Given the description of an element on the screen output the (x, y) to click on. 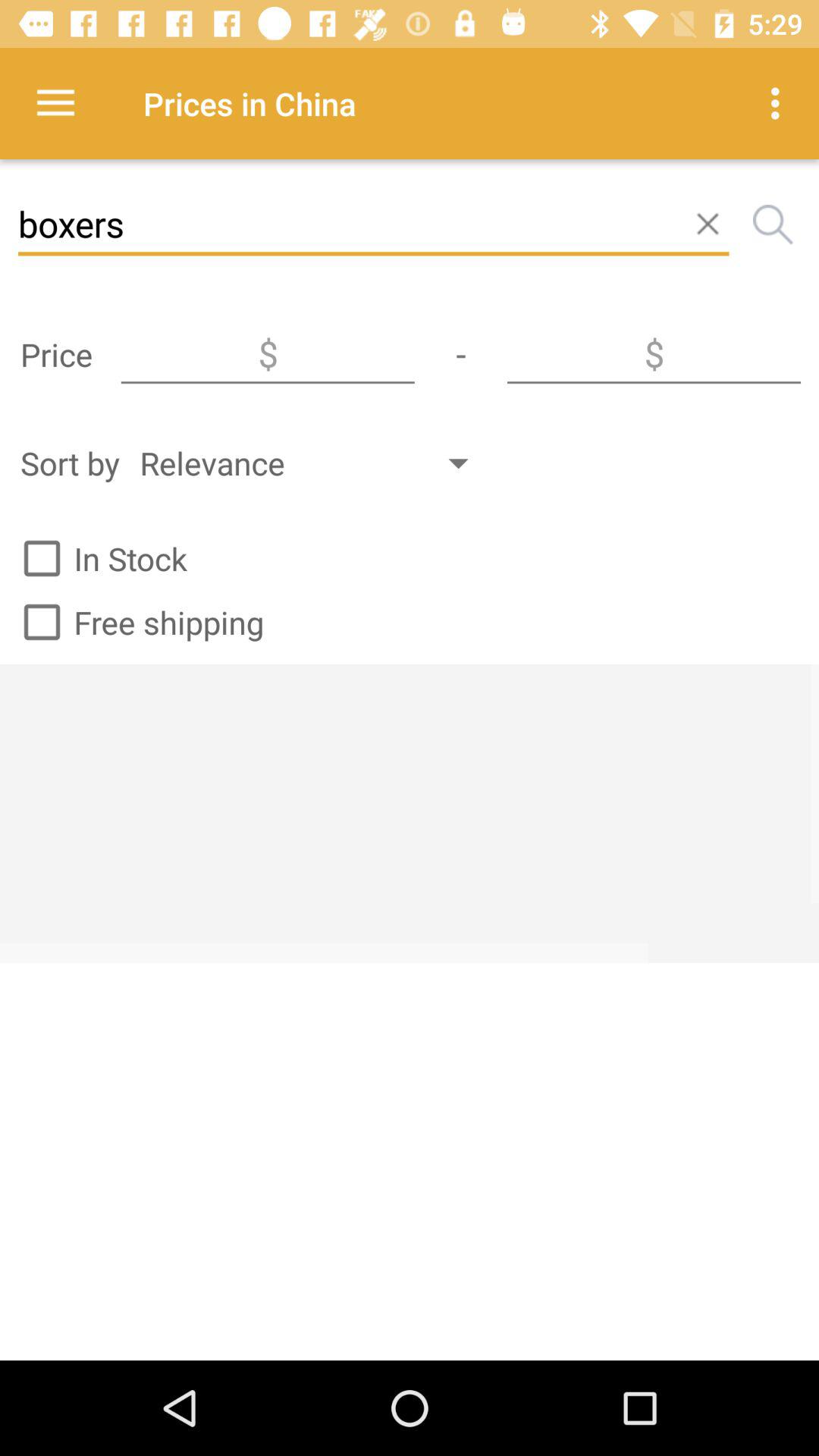
select the item below free shipping item (409, 813)
